Given the description of an element on the screen output the (x, y) to click on. 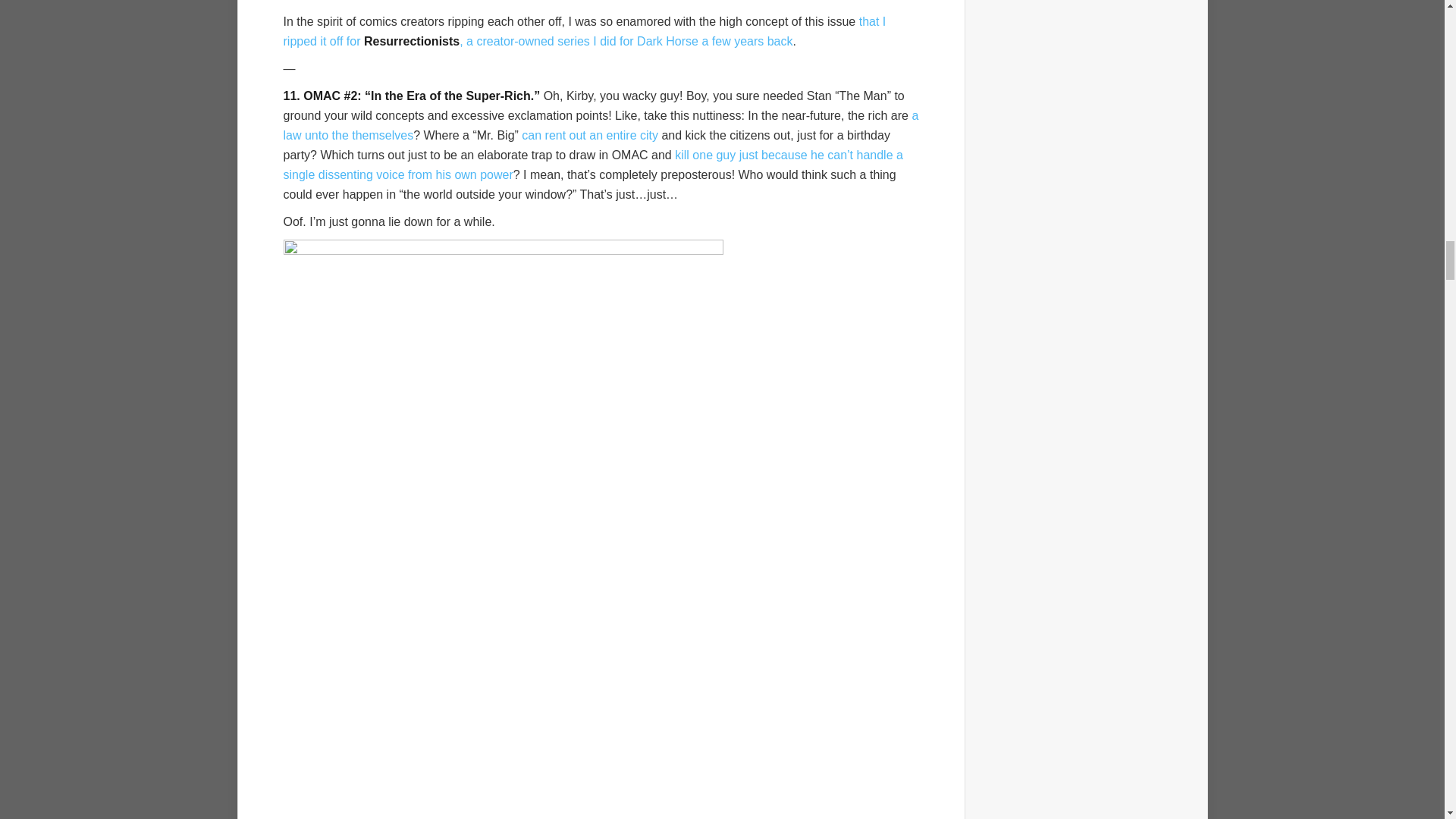
can rent out an entire city (589, 134)
a law unto the themselves (600, 124)
